Given the description of an element on the screen output the (x, y) to click on. 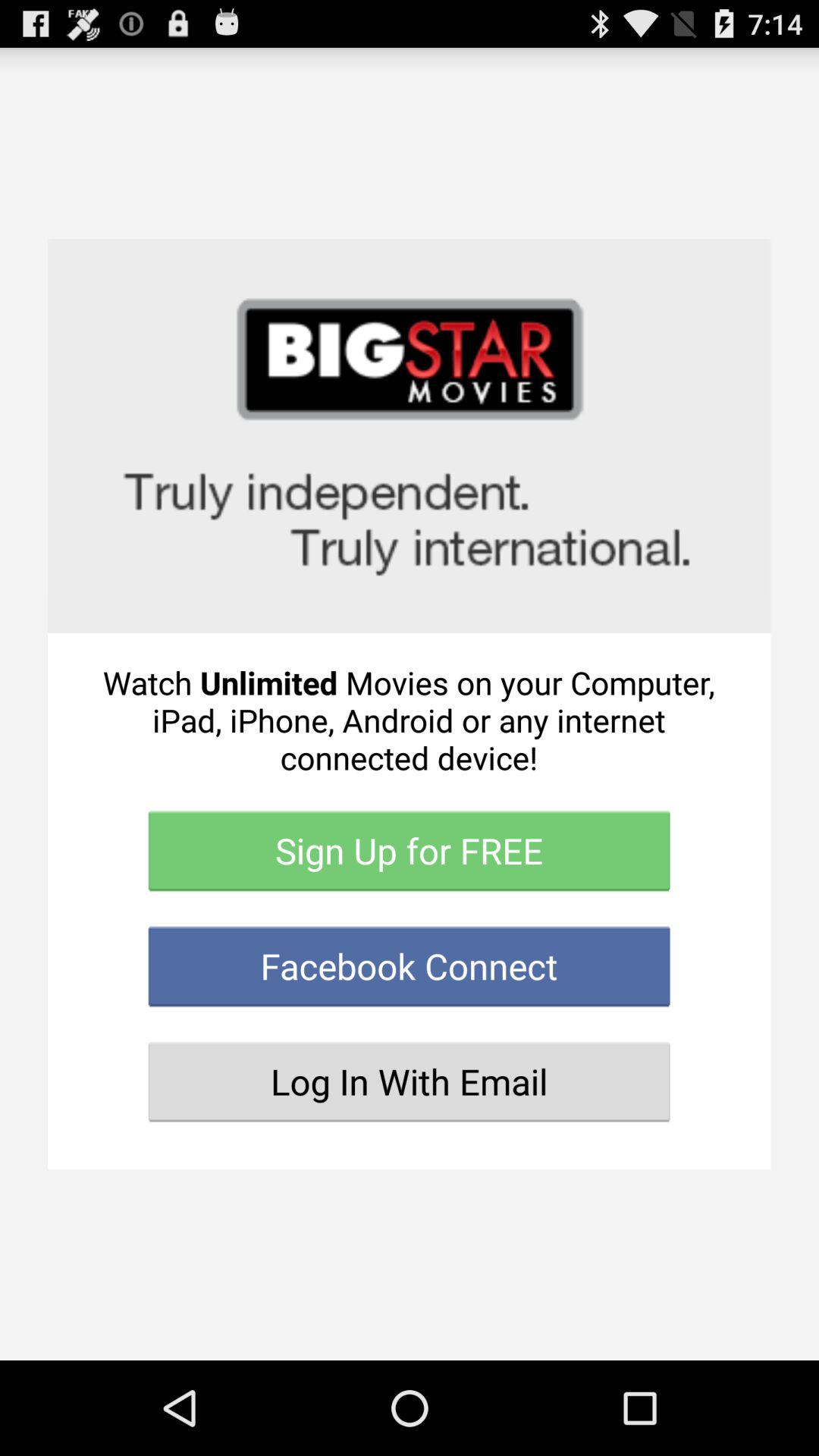
choose the item above the facebook connect (408, 850)
